Given the description of an element on the screen output the (x, y) to click on. 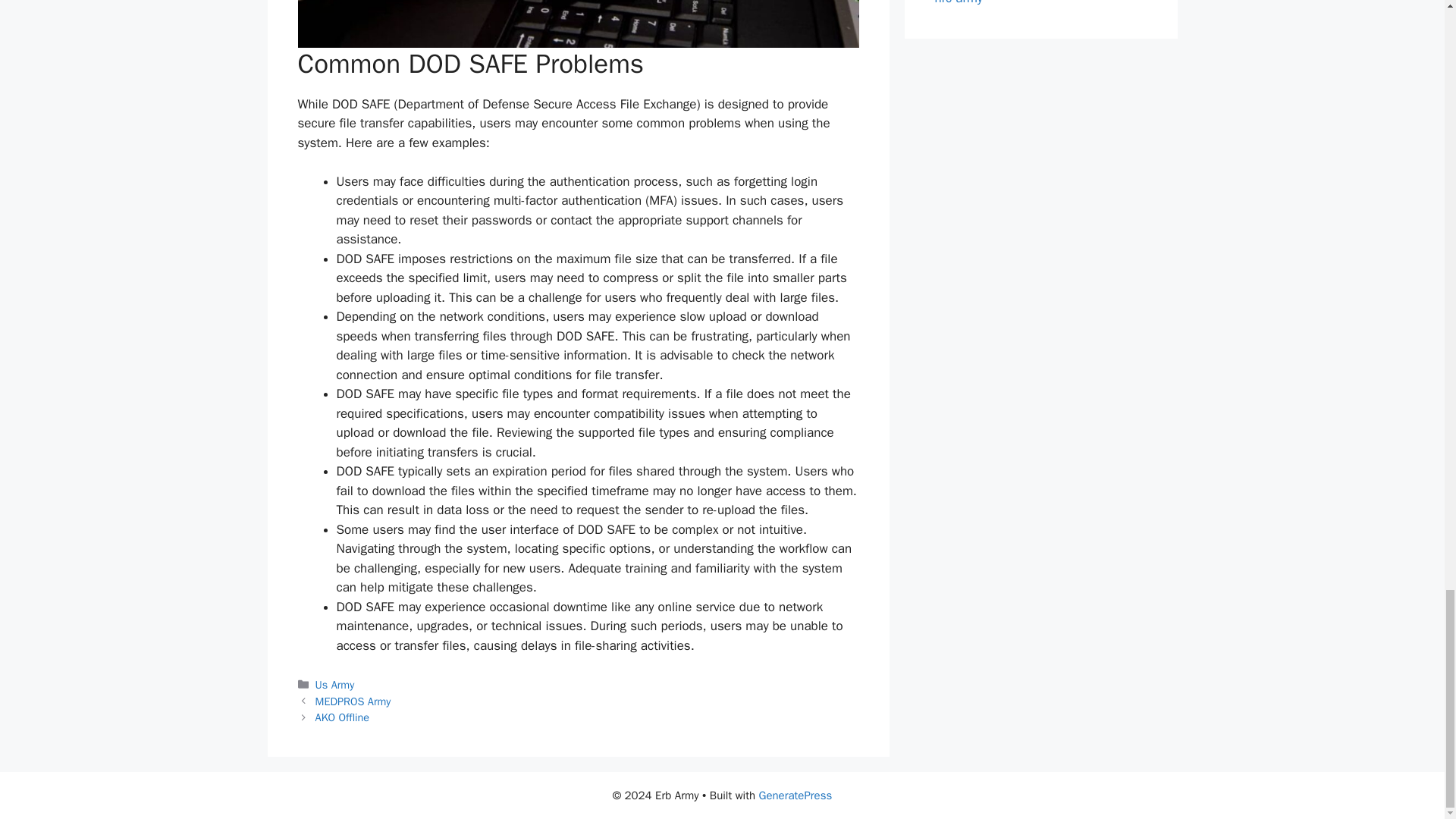
AKO Offline (342, 716)
MEDPROS Army (353, 701)
Previous (353, 701)
Next (342, 716)
Us Army (335, 684)
